Given the description of an element on the screen output the (x, y) to click on. 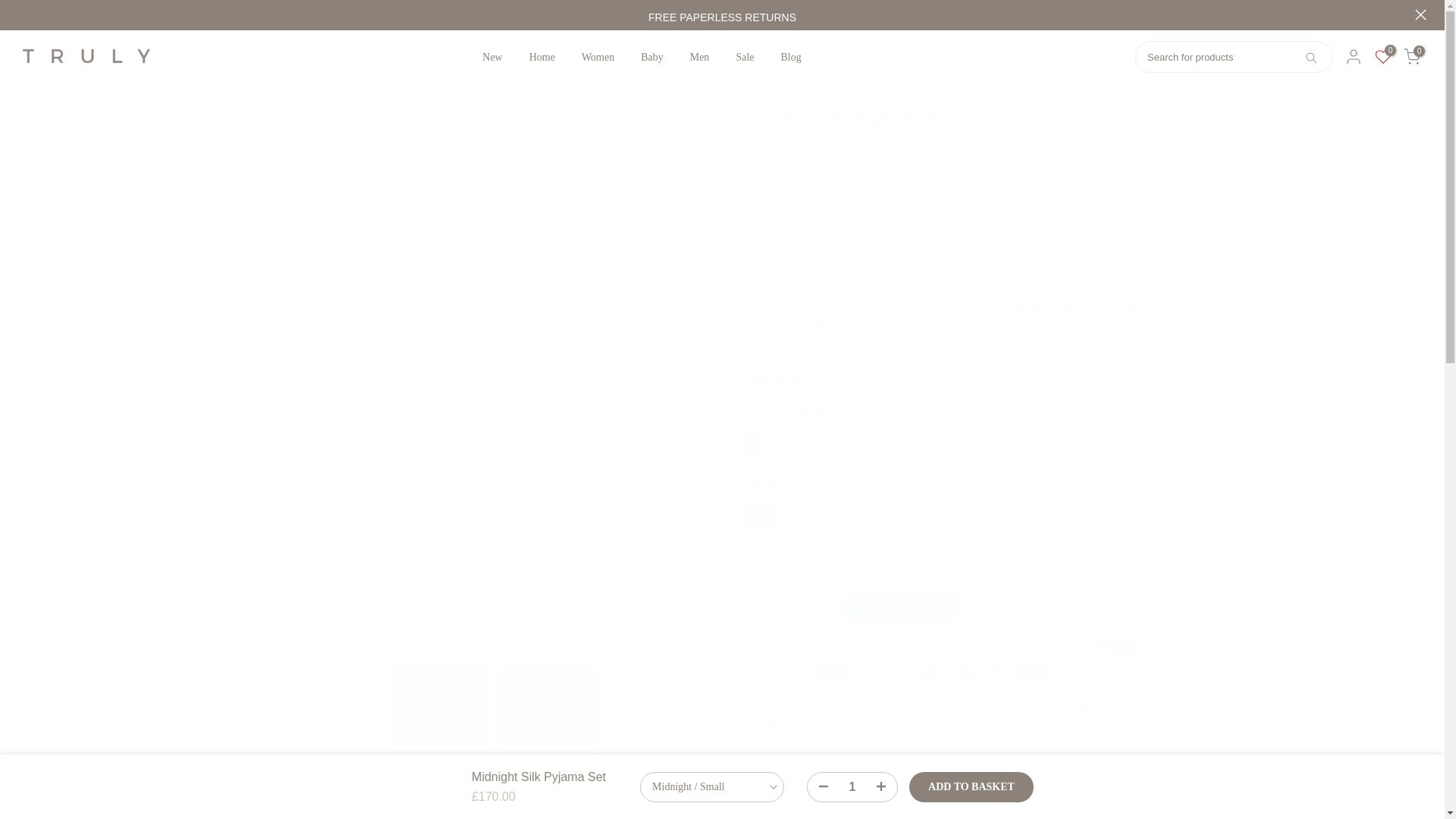
Skip to content (10, 7)
Midnight (750, 444)
New (491, 57)
close (1420, 14)
1 (853, 786)
Women (597, 57)
Baby (652, 57)
Home (541, 57)
1 (786, 606)
